Given the description of an element on the screen output the (x, y) to click on. 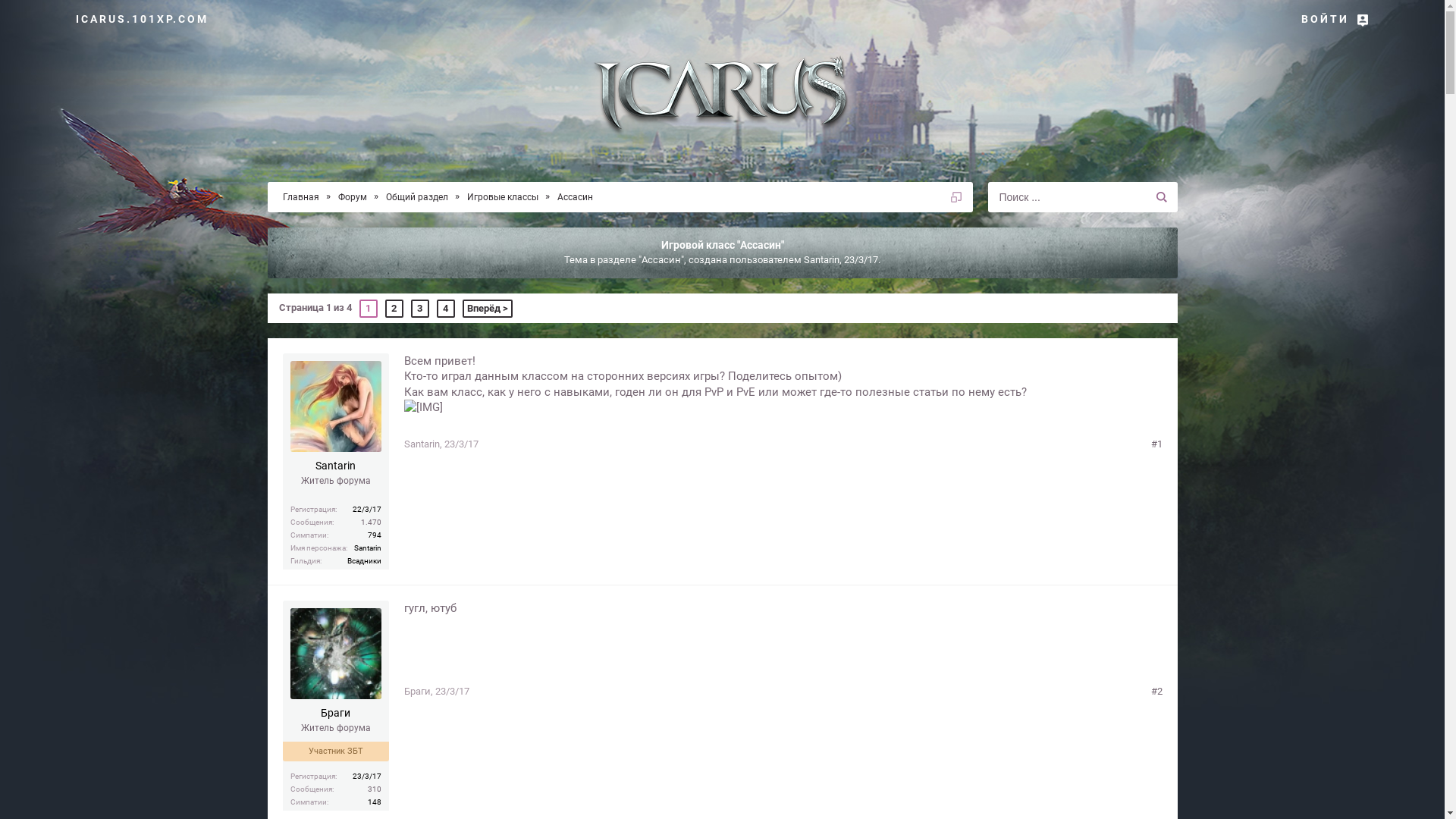
23/3/17 Element type: text (461, 443)
2 Element type: text (394, 308)
1.470 Element type: text (370, 521)
3 Element type: text (420, 308)
1 Element type: text (368, 308)
23/3/17 Element type: text (861, 259)
Santarin Element type: text (334, 467)
23/3/17 Element type: text (452, 690)
ICARUS.101XP.COM Element type: text (141, 18)
310 Element type: text (373, 788)
Santarin Element type: text (821, 259)
#1 Element type: text (1156, 444)
#2 Element type: text (1156, 691)
Santarin Element type: text (421, 443)
4 Element type: text (445, 308)
